Given the description of an element on the screen output the (x, y) to click on. 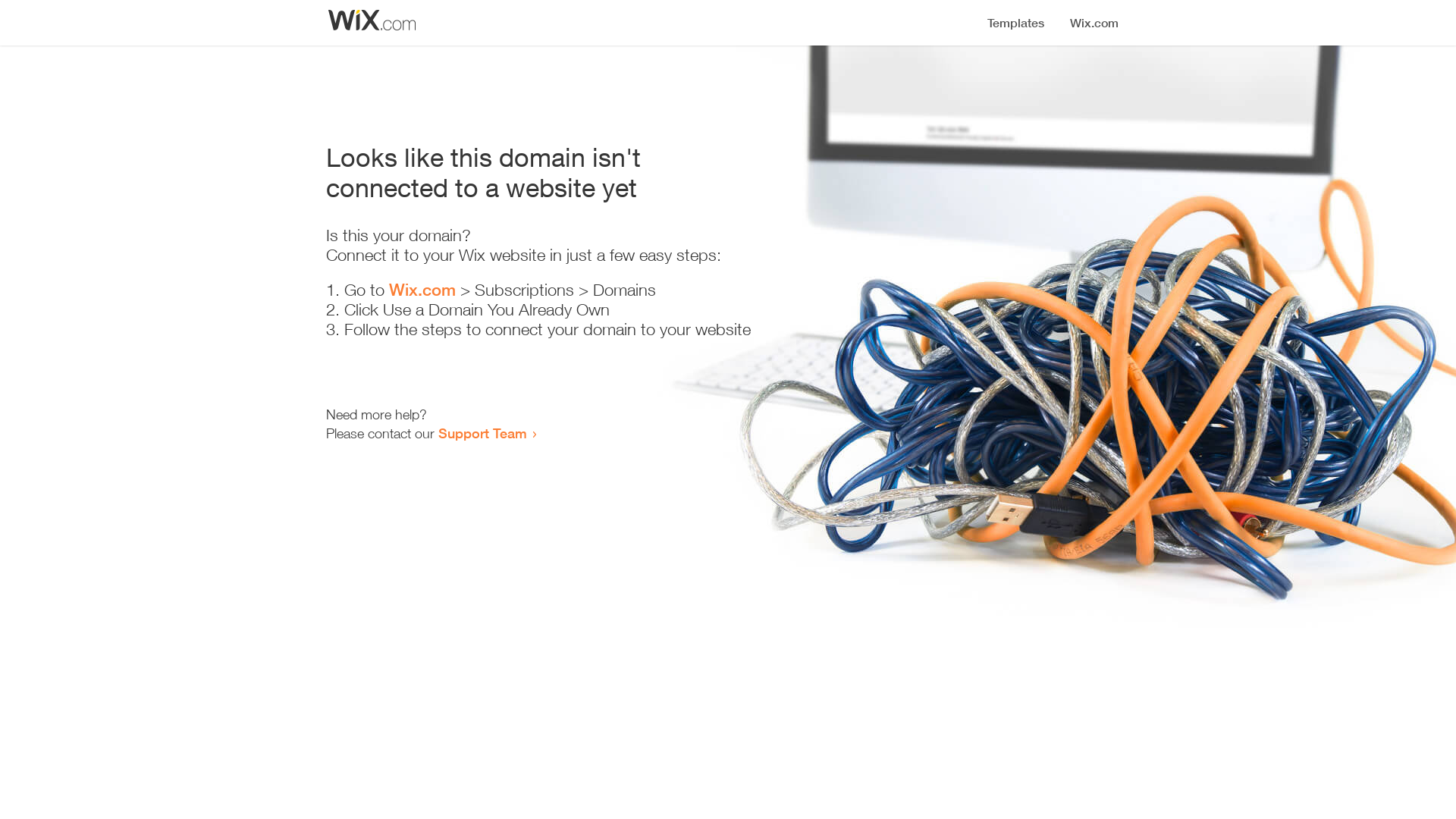
Support Team Element type: text (482, 432)
Wix.com Element type: text (422, 289)
